Given the description of an element on the screen output the (x, y) to click on. 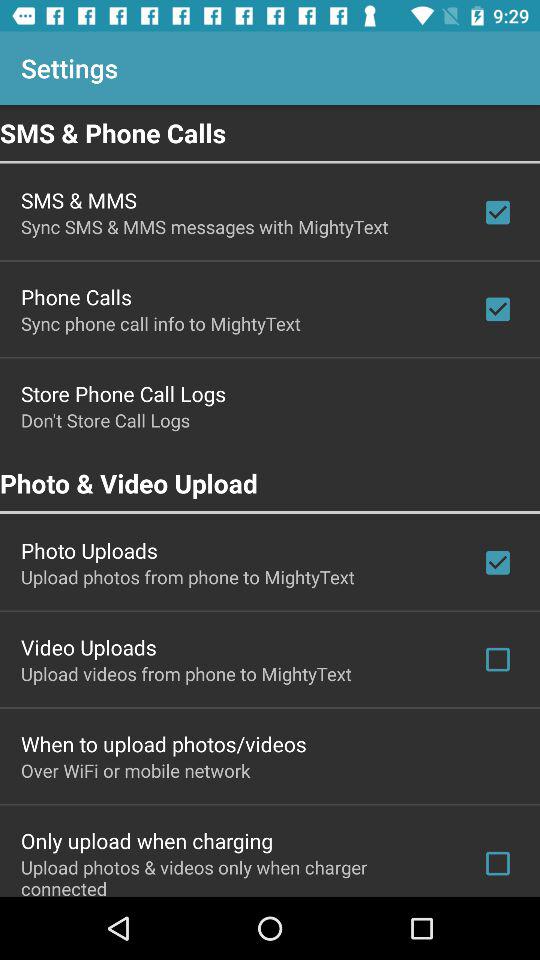
flip until the photo & video upload (270, 483)
